Given the description of an element on the screen output the (x, y) to click on. 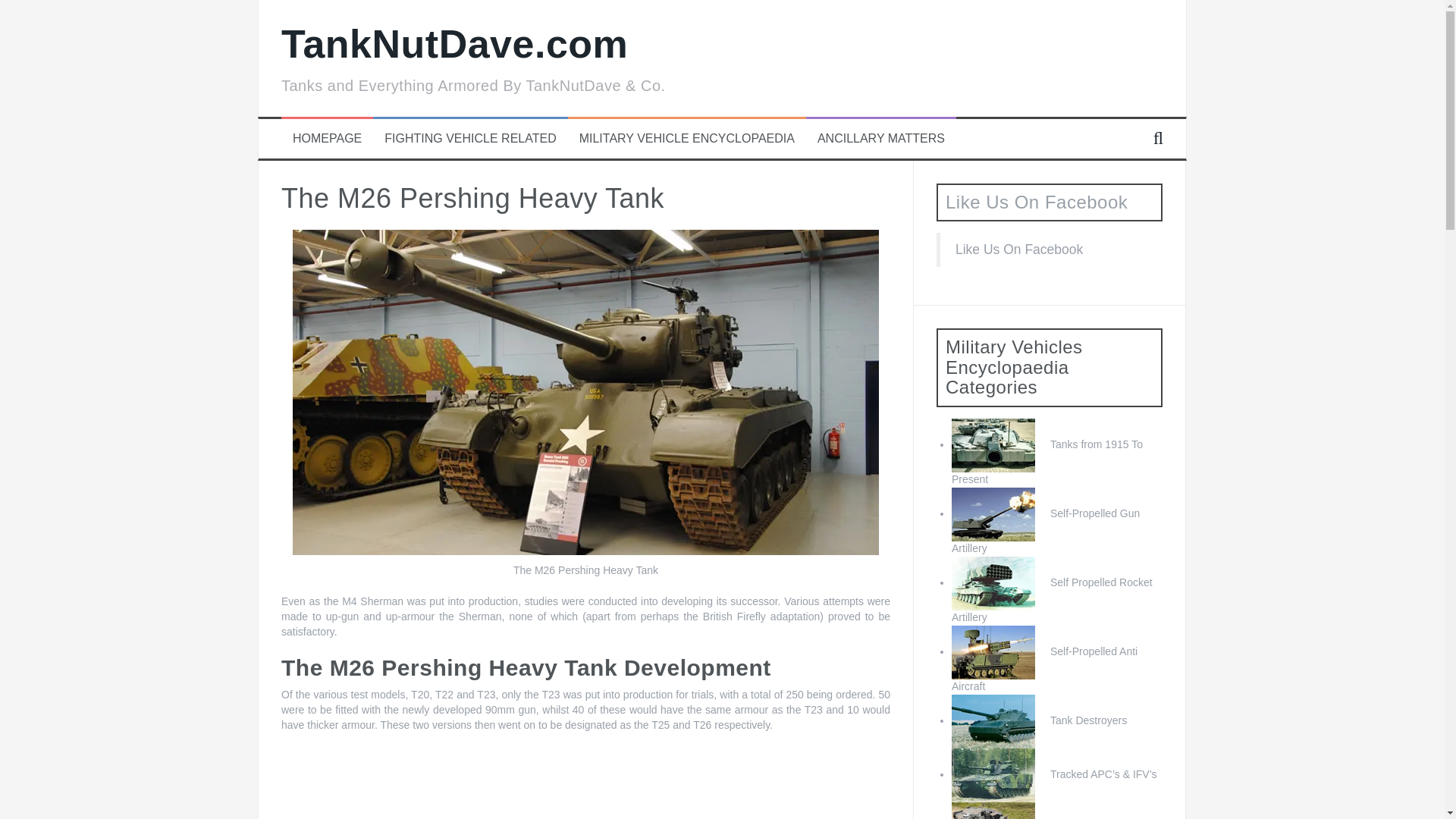
FIGHTING VEHICLE RELATED (470, 139)
ANCILLARY MATTERS (880, 139)
Self-Propelled Anti-Aircraft Vehicles (1044, 668)
TankNutDave.com (454, 44)
MILITARY VEHICLE ENCYCLOPAEDIA (686, 139)
Self-Propelled Gun Artillery (1046, 530)
Tanks from 1915 To Present Day (1047, 461)
HOMEPAGE (326, 139)
